Given the description of an element on the screen output the (x, y) to click on. 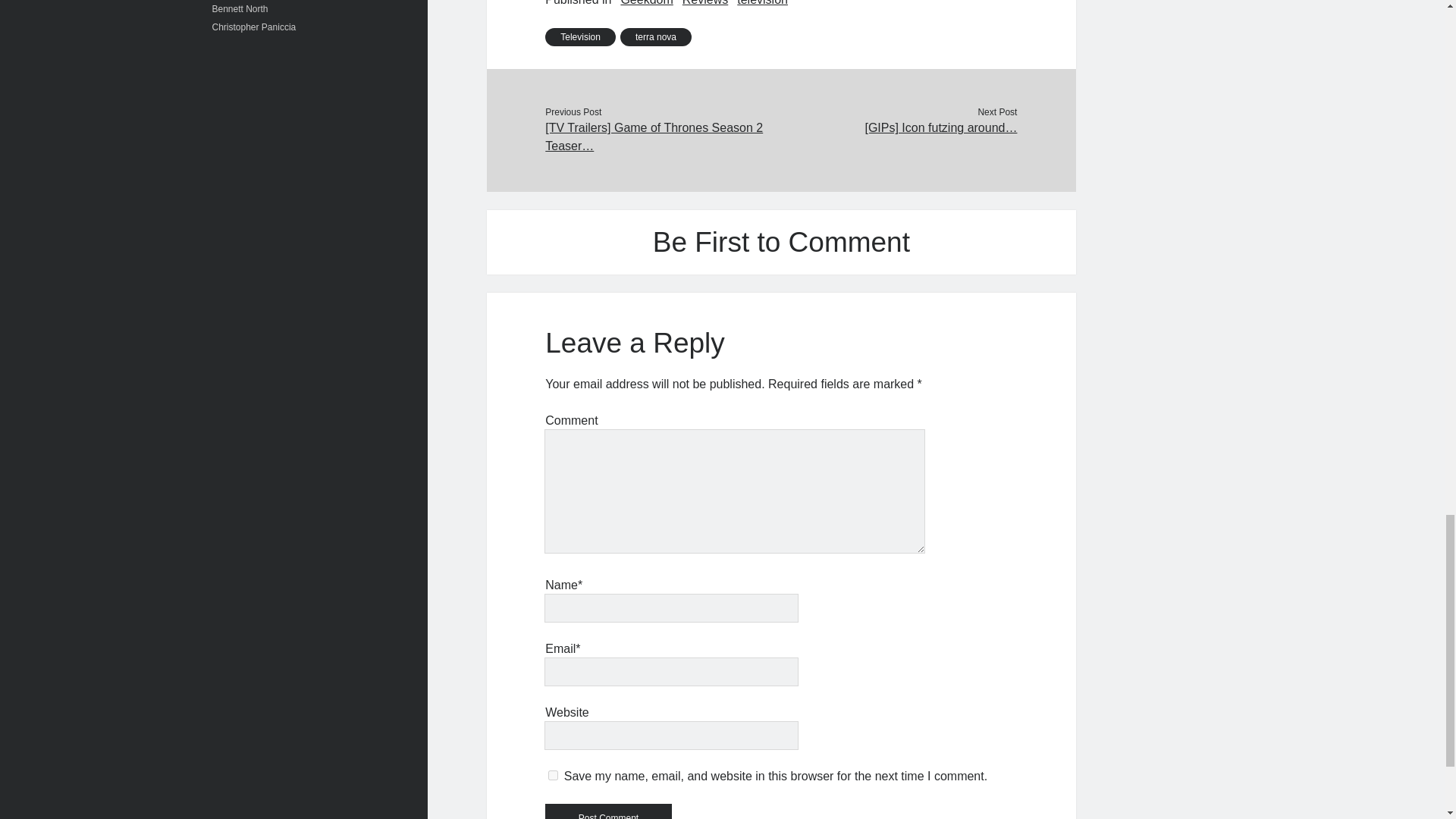
View all posts in television (761, 4)
View all posts in Geekdom (646, 4)
View all posts in Reviews (705, 4)
yes (552, 775)
Post Comment (607, 811)
